Given the description of an element on the screen output the (x, y) to click on. 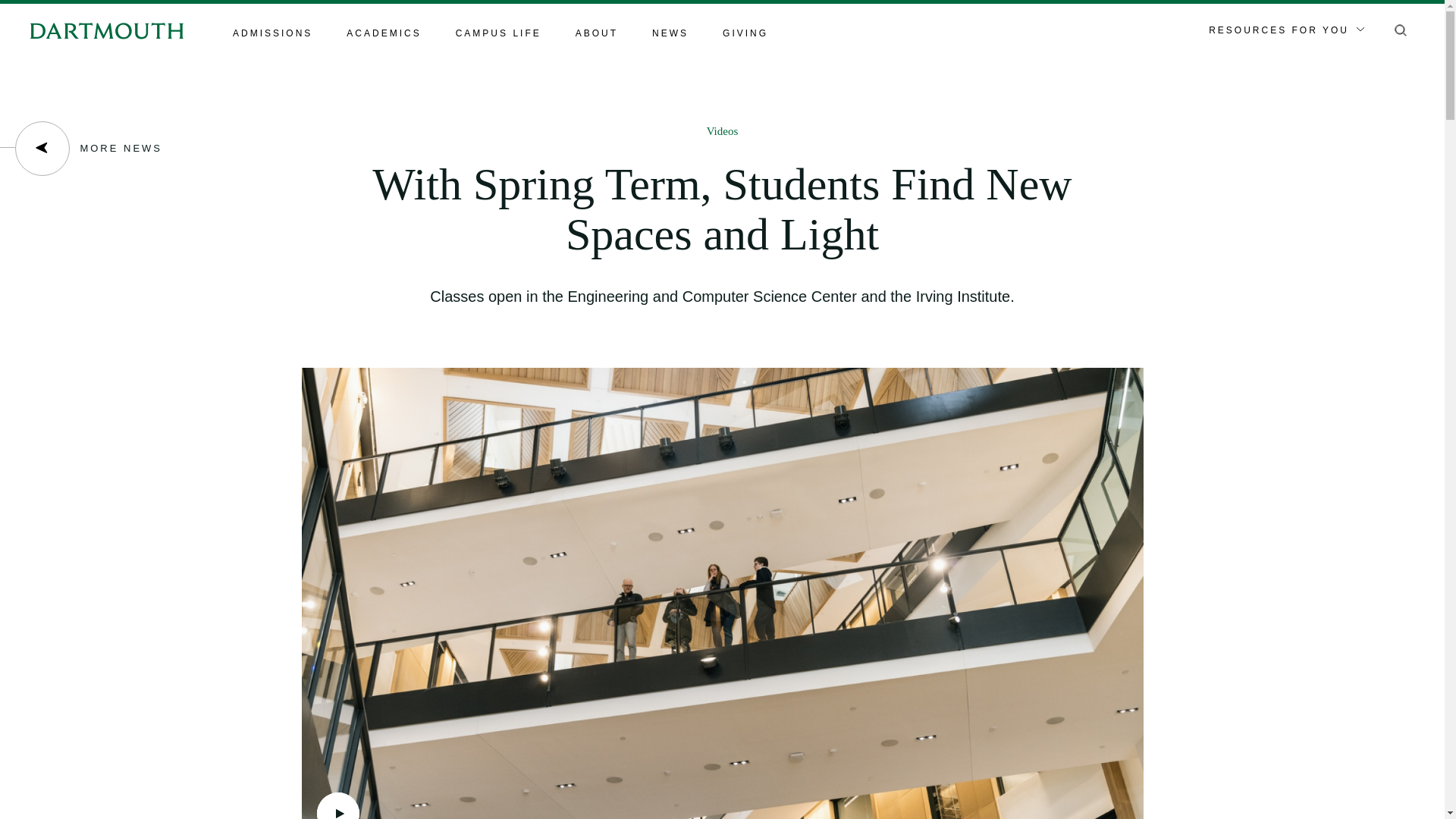
Admissions (272, 33)
ADMISSIONS (272, 33)
ACADEMICS (383, 33)
Academics (383, 33)
ABOUT (596, 33)
CAMPUS LIFE (498, 33)
Home (106, 29)
Home (106, 29)
